Given the description of an element on the screen output the (x, y) to click on. 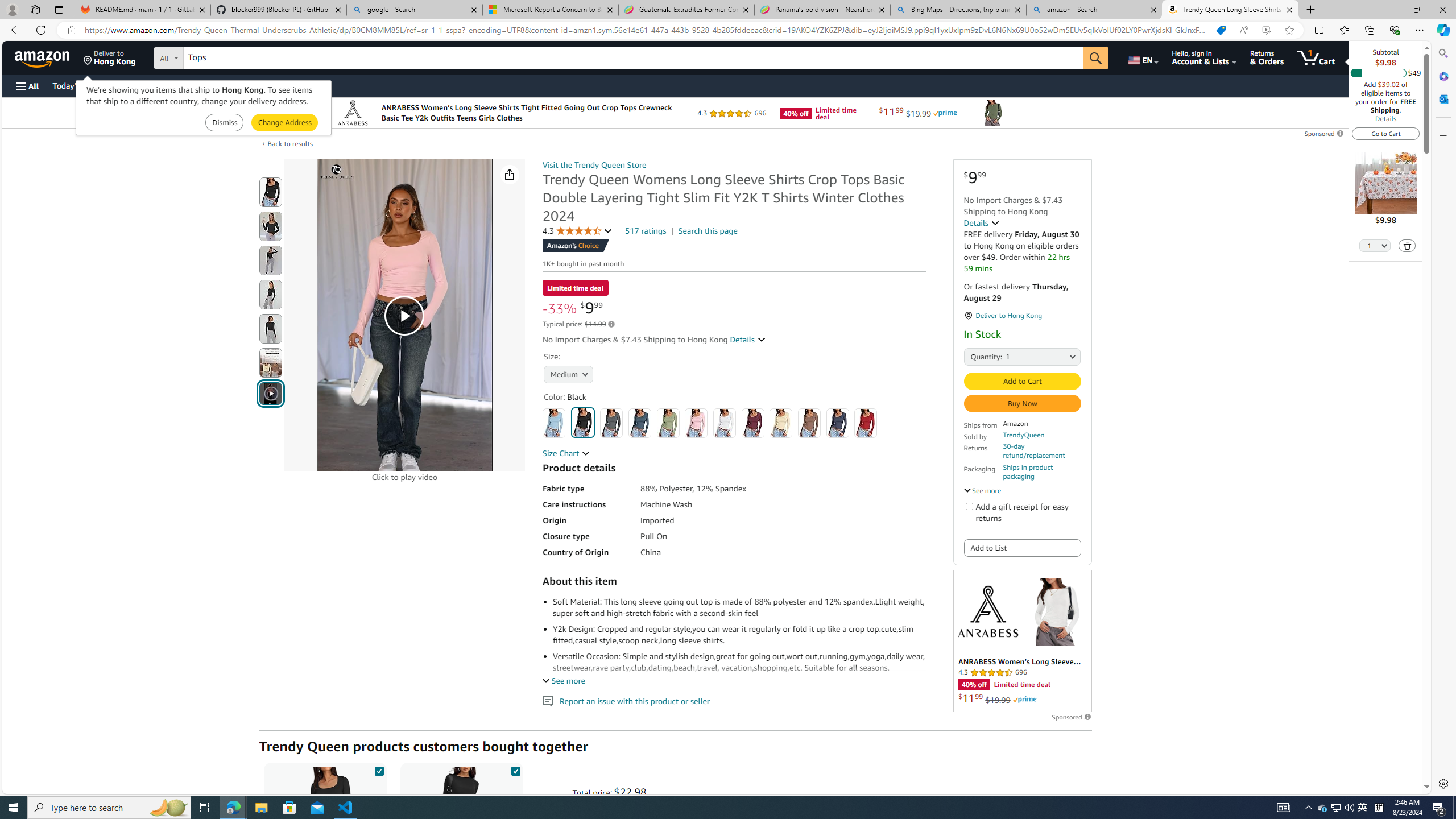
Hello, sign in Account & Lists (1203, 57)
Gray (611, 422)
Skip to main content (48, 56)
Back to results (290, 143)
Details (1385, 118)
Customer Service (145, 85)
Baby Blue (553, 422)
